Given the description of an element on the screen output the (x, y) to click on. 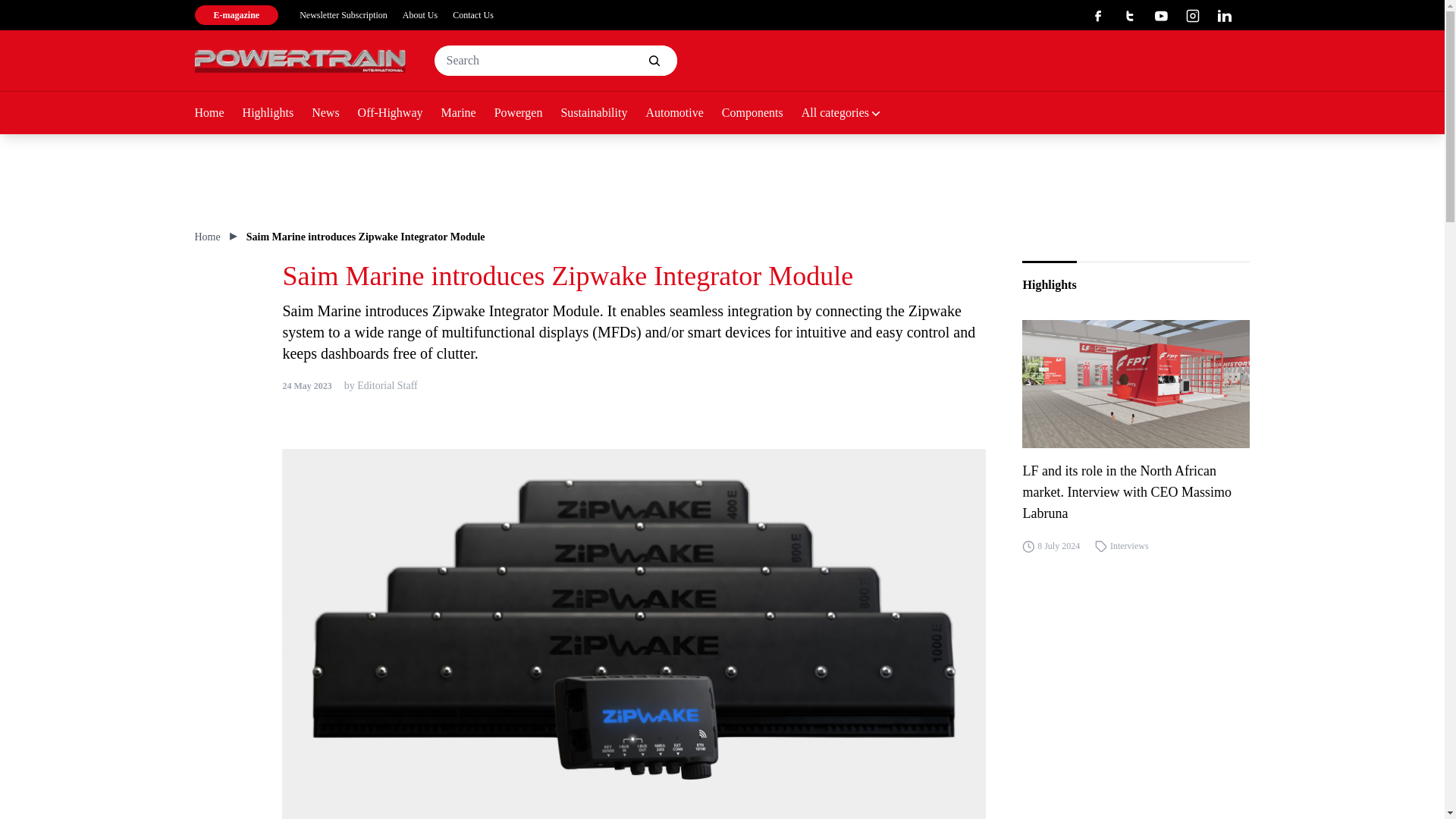
Linkedin (1224, 14)
Instagram (1192, 14)
Sustainability (602, 113)
Contact Us (472, 14)
Cerca: (555, 60)
Automotive (682, 113)
Highlights (278, 113)
Youtube (1160, 14)
Home (206, 236)
About Us (420, 14)
E-magazine (235, 14)
Newsletter Subscription (343, 14)
Home (217, 113)
Powergen (527, 113)
Marine (468, 113)
